Given the description of an element on the screen output the (x, y) to click on. 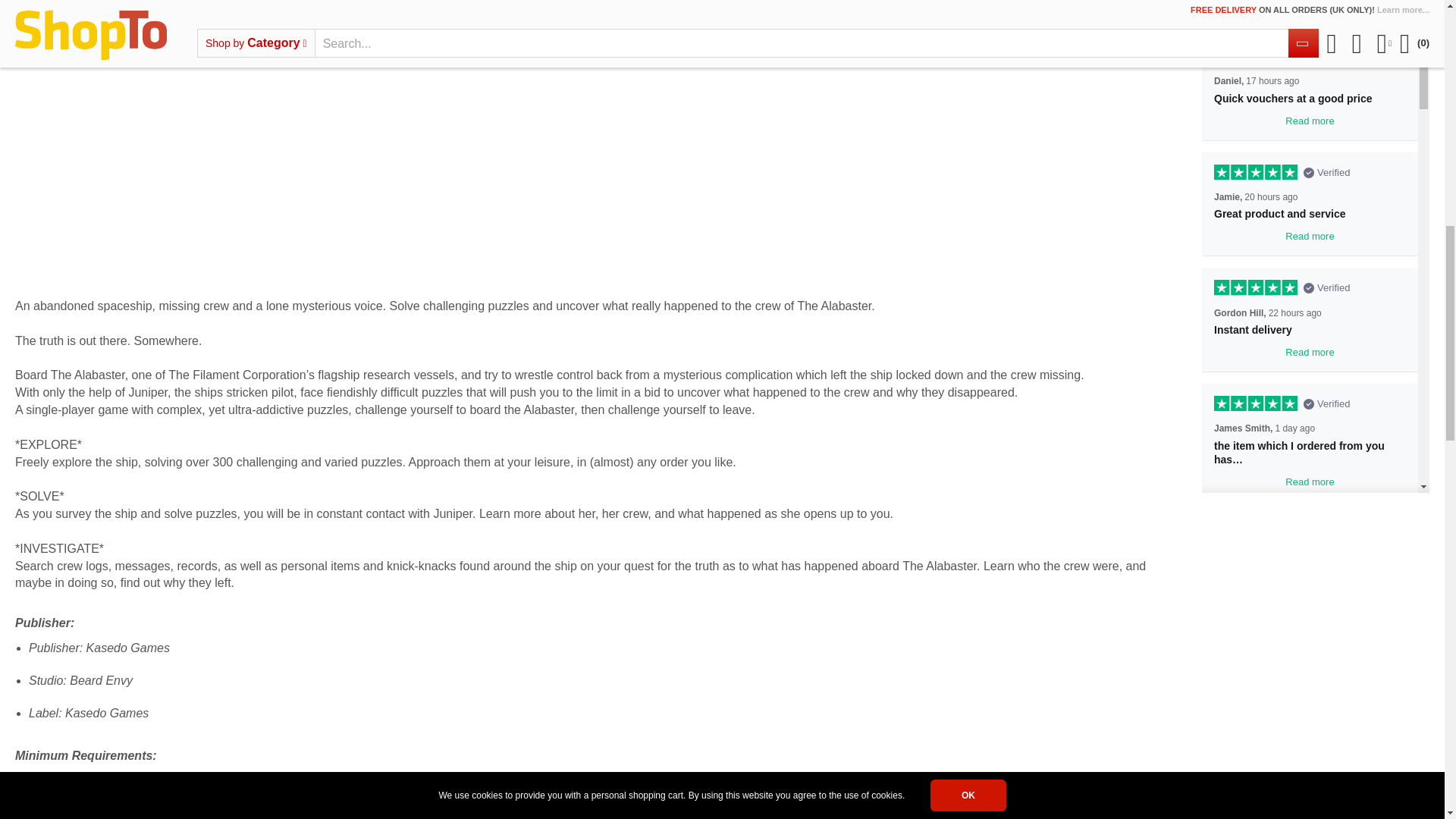
YouTube video player (597, 154)
